Given the description of an element on the screen output the (x, y) to click on. 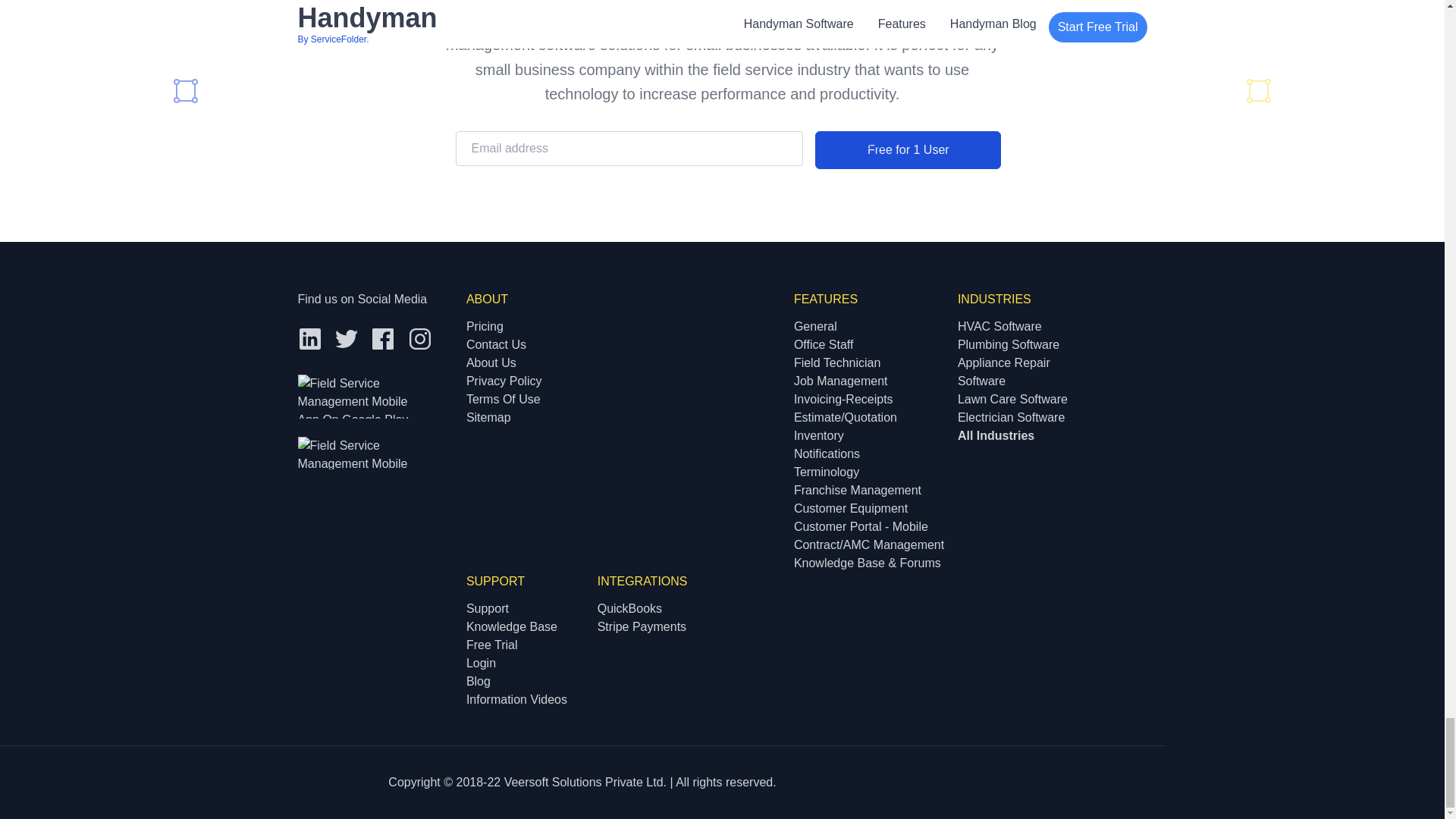
Facebook (382, 338)
LinkedIn (309, 338)
Instagram (419, 338)
Twitter (346, 338)
Free for 1 User (908, 149)
